Given the description of an element on the screen output the (x, y) to click on. 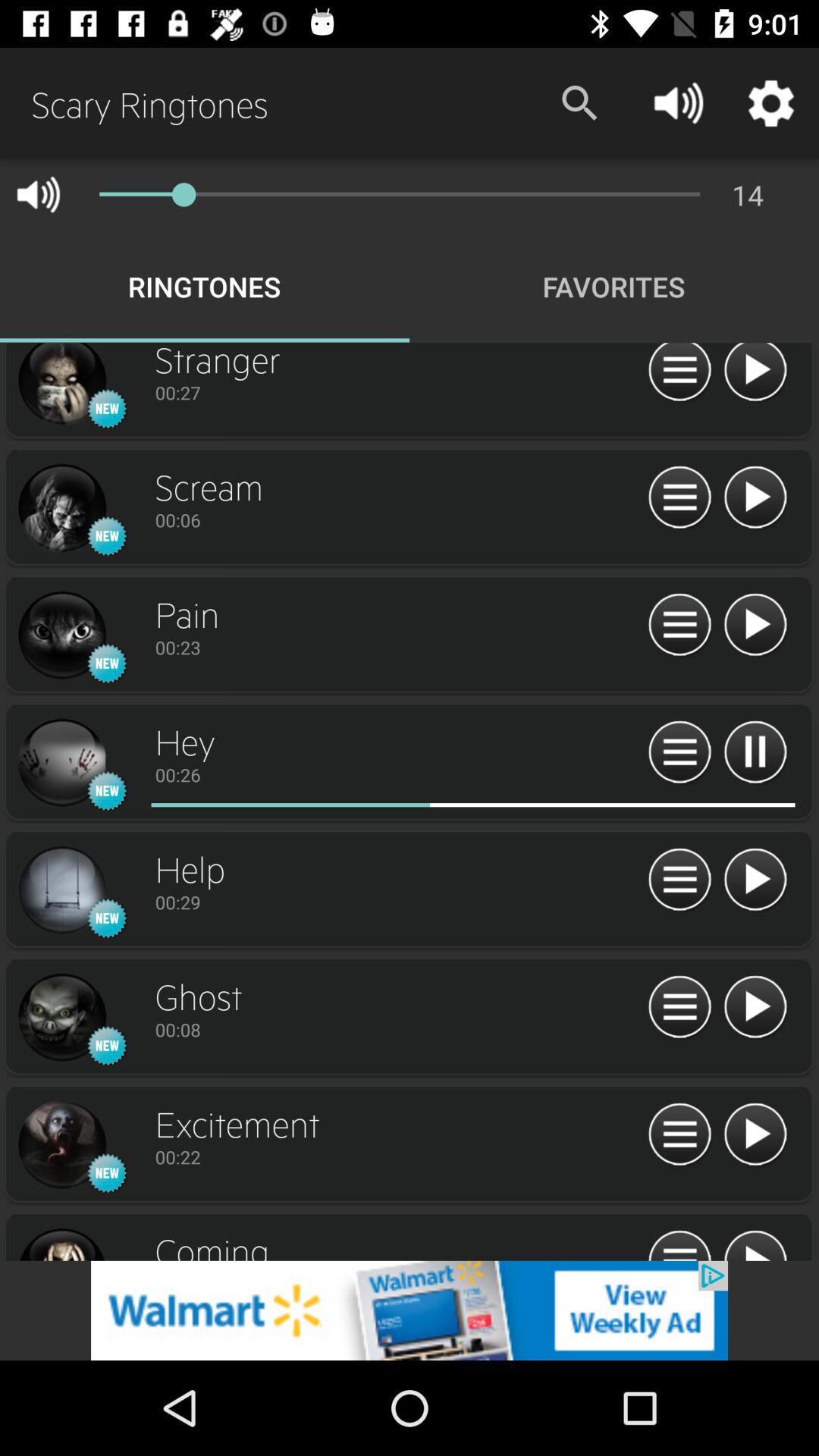
play sound (755, 1007)
